Given the description of an element on the screen output the (x, y) to click on. 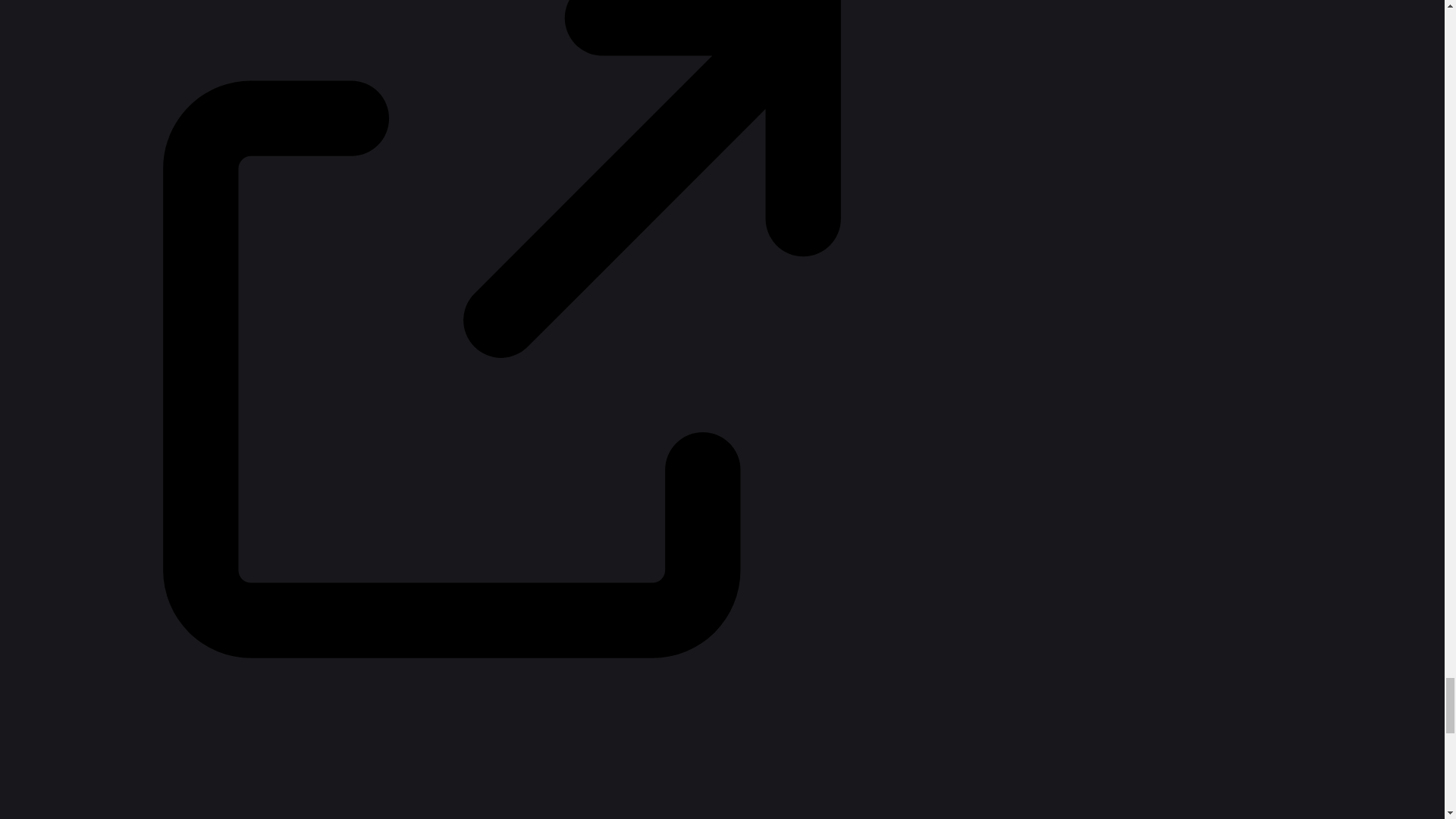
Jun 2015 (582, 277)
last reply (676, 462)
How to select all characters on begin play (629, 163)
question (670, 198)
Jump to the last post (1348, 506)
Post date (582, 571)
Jun 2015 (1348, 250)
Report Post (1197, 417)
Jun 2015 (1348, 506)
Jump to the first post (1348, 250)
Post date (582, 277)
copy a link to this post to clipboard (1259, 417)
Development (714, 93)
Unreal Engine (593, 93)
Jun 22, 2015 2:30 am (676, 483)
